Given the description of an element on the screen output the (x, y) to click on. 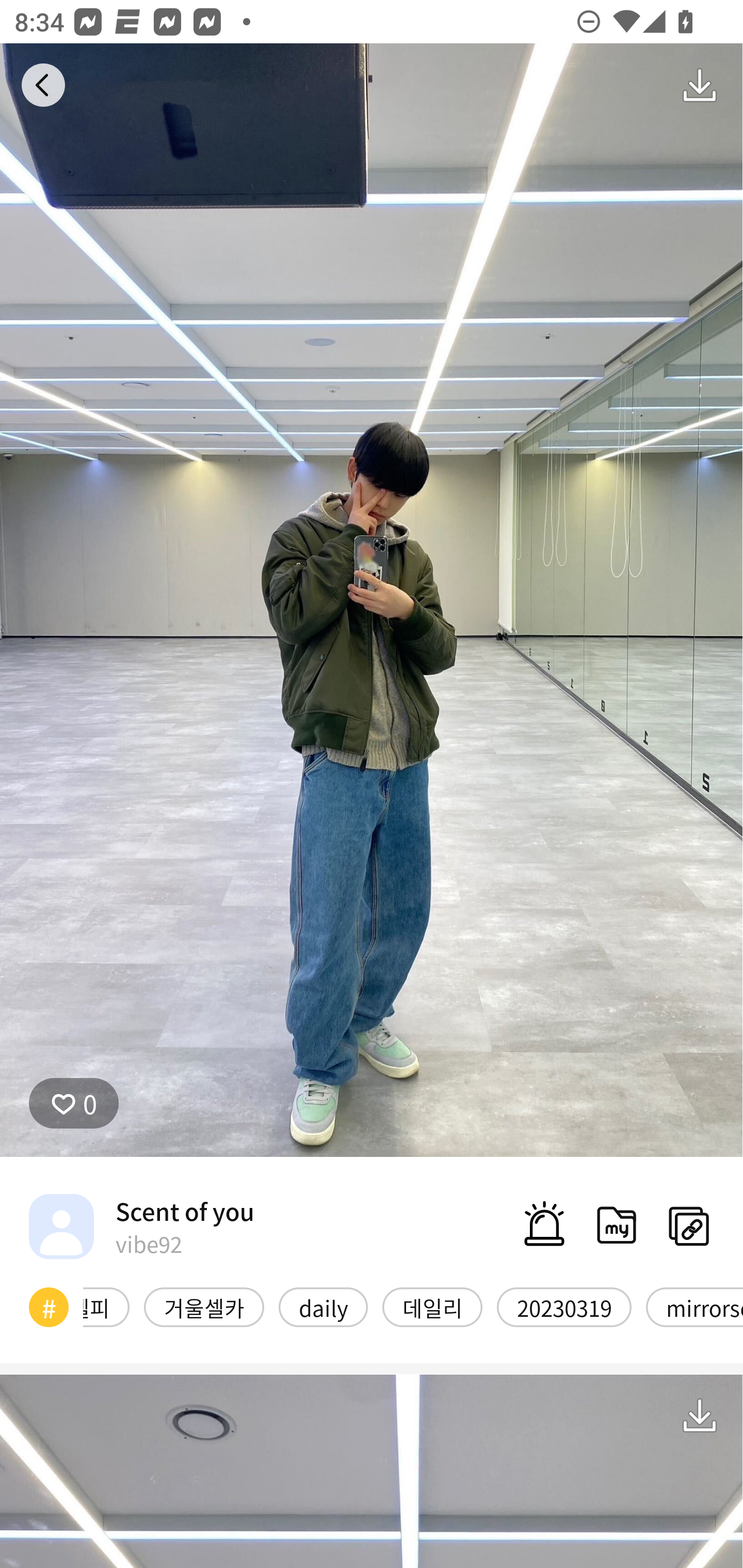
0 (73, 1102)
Scent of you vibe92 (141, 1226)
거울셀카 (204, 1306)
daily (322, 1306)
데일리 (432, 1306)
20230319 (564, 1306)
mirrorselfie (694, 1306)
